Given the description of an element on the screen output the (x, y) to click on. 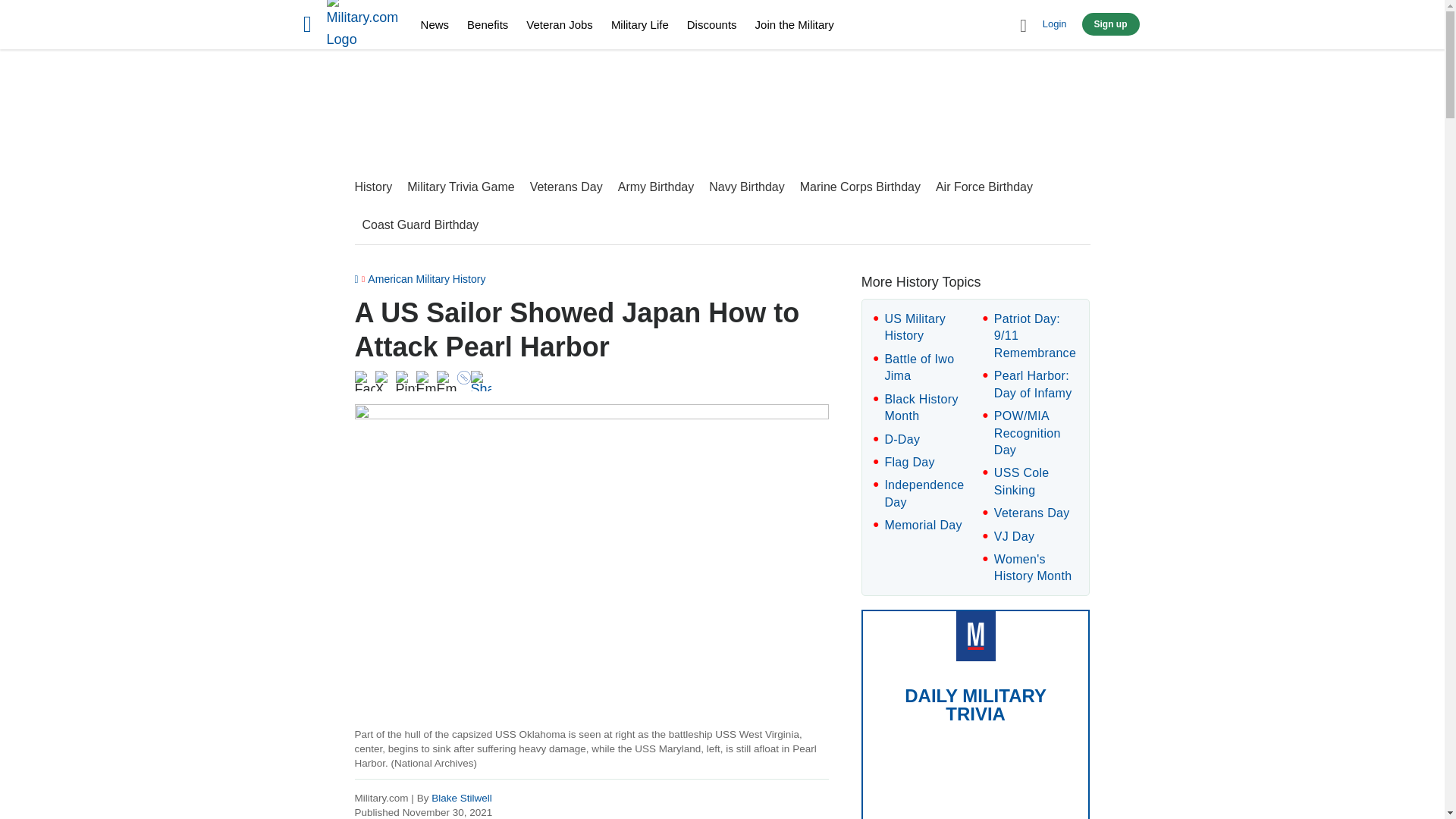
Home (364, 27)
Benefits (487, 24)
Military Life (639, 24)
Veteran Jobs (558, 24)
